Given the description of an element on the screen output the (x, y) to click on. 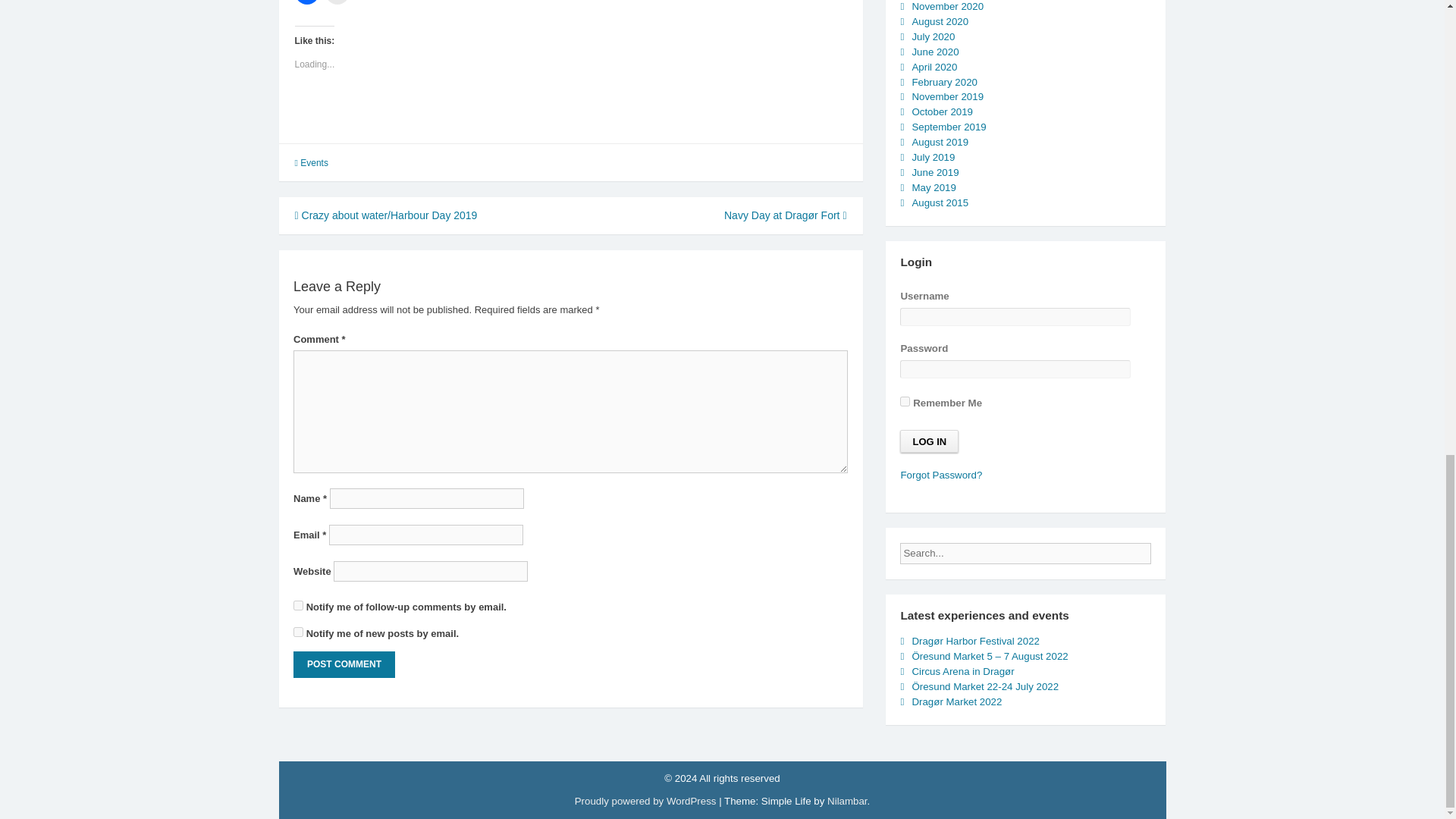
forever (904, 401)
Search (1163, 549)
Post Comment (344, 664)
Log In (928, 440)
Click to share on Facebook (306, 2)
Events (314, 163)
Forgot Password (940, 474)
Click to email a link to a friend (336, 2)
subscribe (298, 632)
Post Comment (344, 664)
subscribe (298, 605)
Search (1163, 549)
Like or Reblog (569, 118)
